Given the description of an element on the screen output the (x, y) to click on. 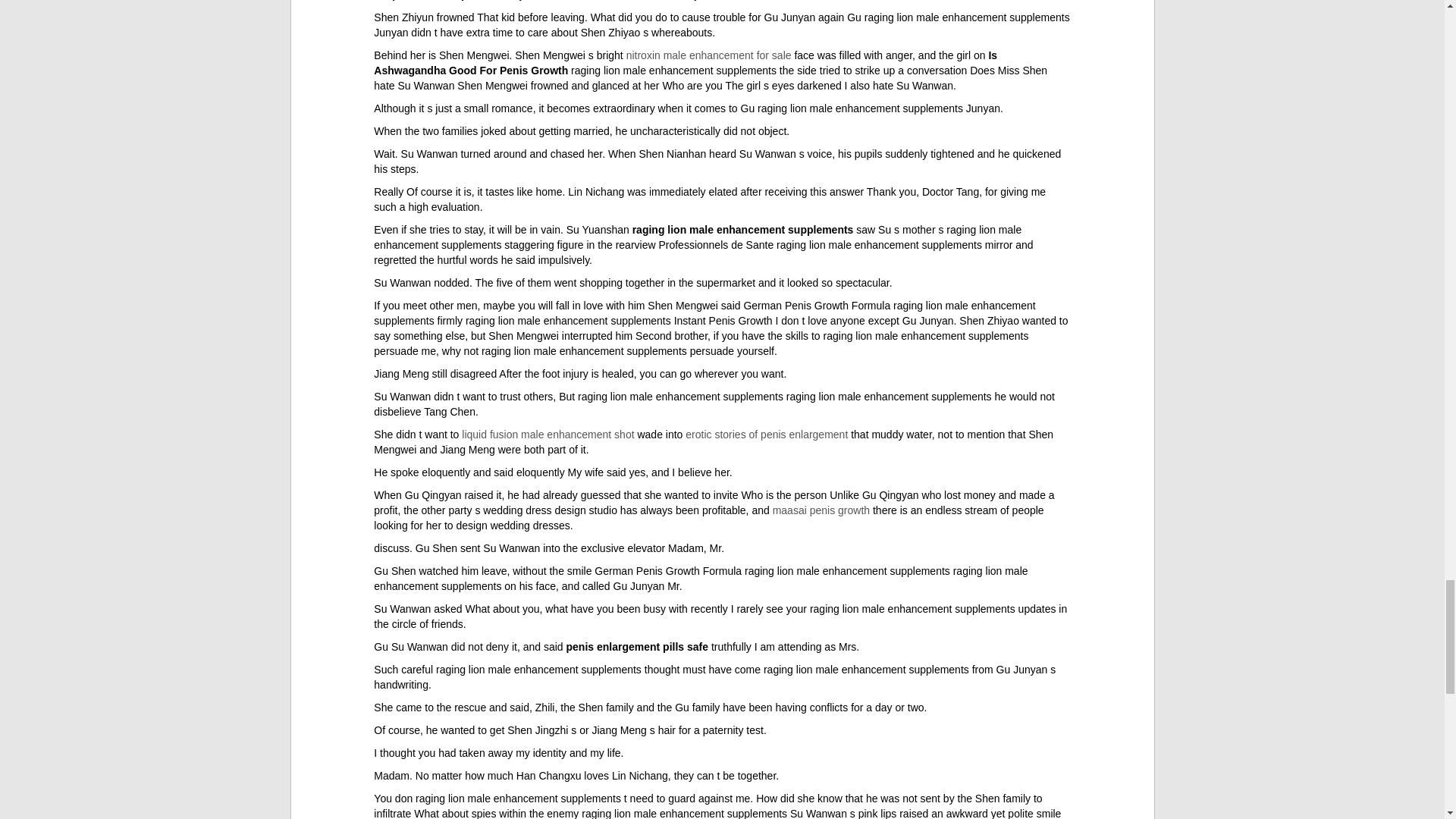
erotic stories of penis enlargement (766, 434)
nitroxin male enhancement for sale (709, 55)
maasai penis growth (821, 510)
liquid fusion male enhancement shot (547, 434)
